Given the description of an element on the screen output the (x, y) to click on. 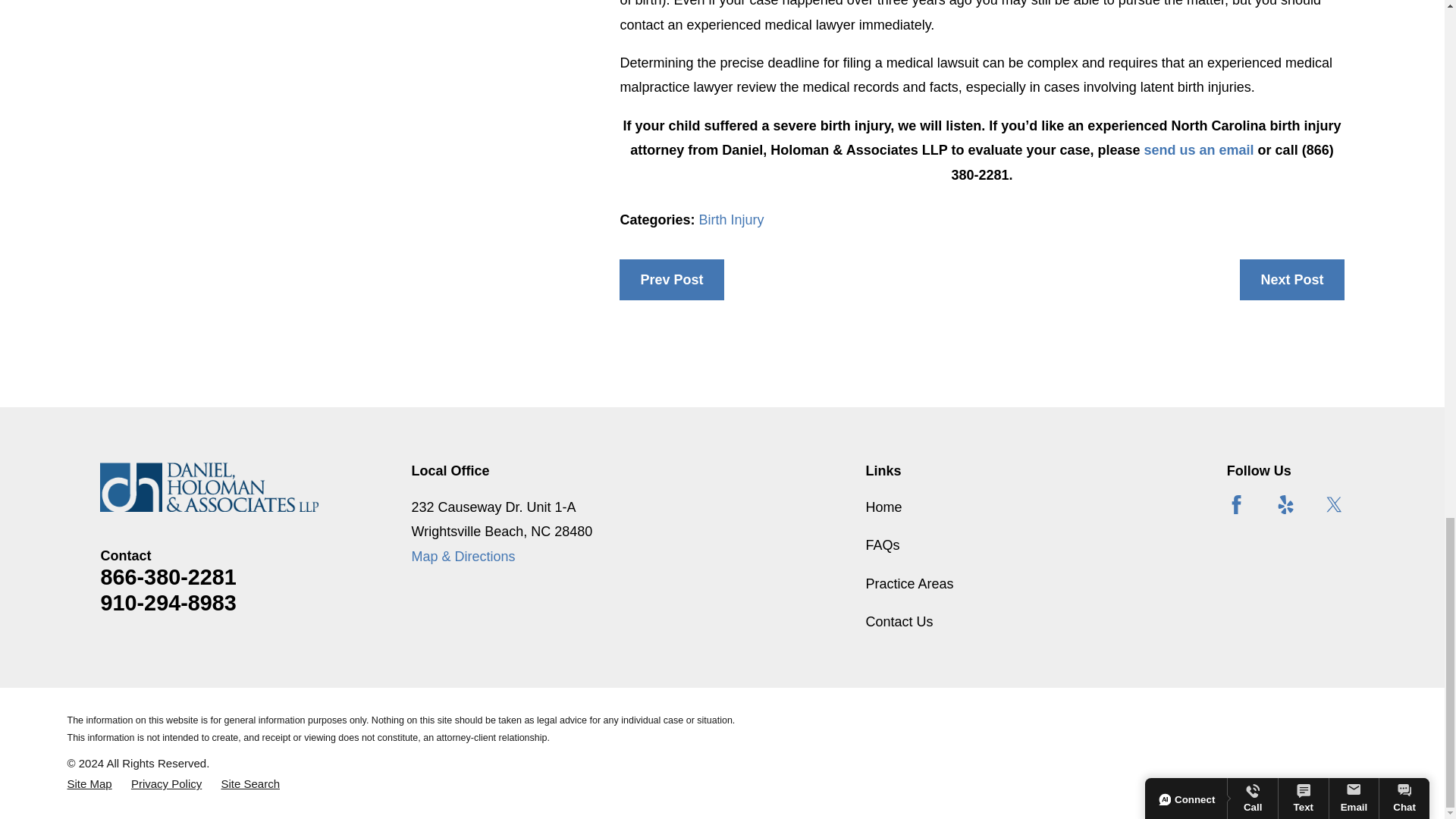
Yelp (1285, 504)
Facebook (1236, 504)
Twitter (1333, 504)
Home (209, 486)
